Given the description of an element on the screen output the (x, y) to click on. 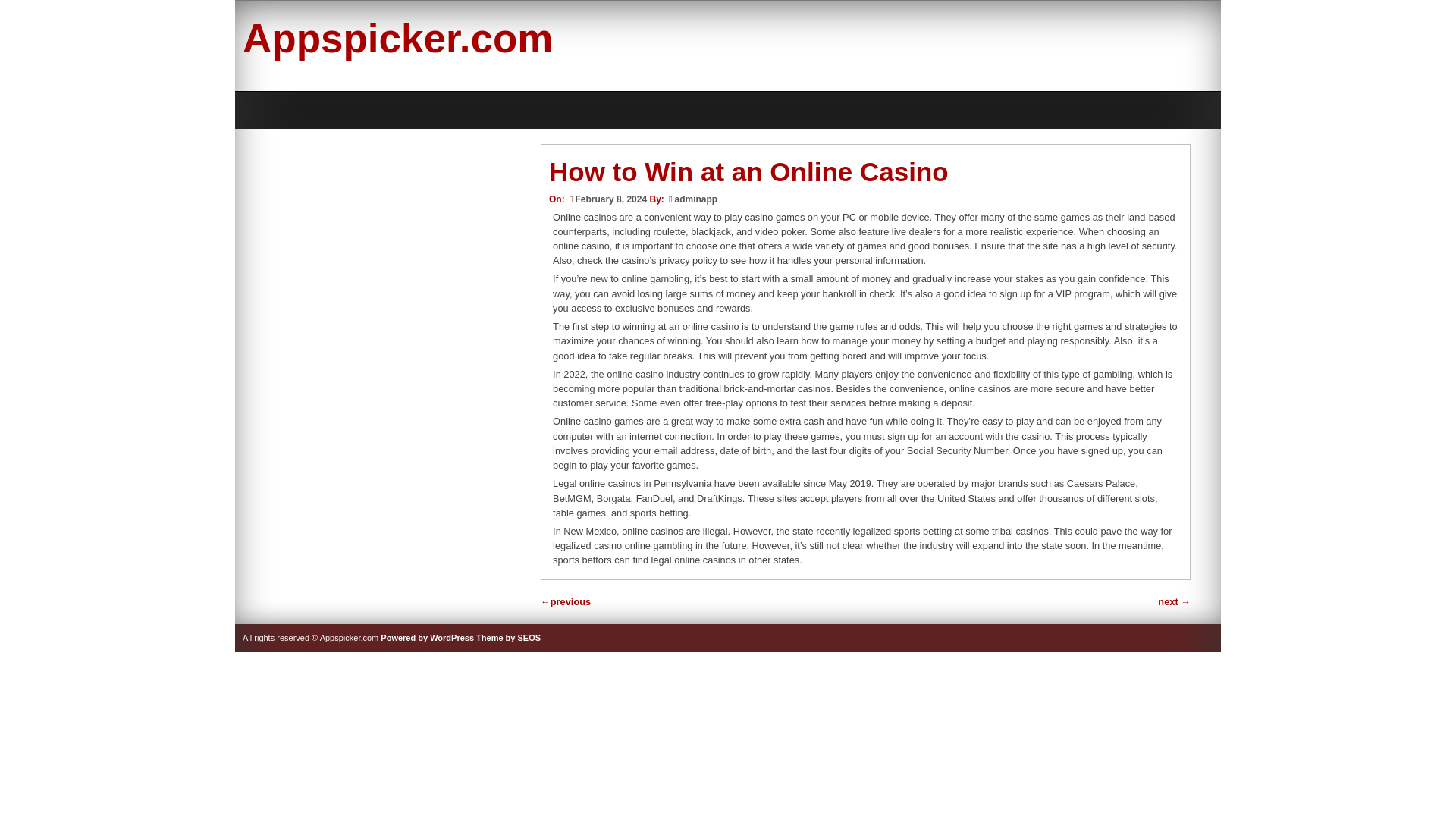
Powered by WordPress (427, 637)
Seos free wordpress themes (508, 637)
Appspicker.com (398, 37)
Theme by SEOS (508, 637)
adminapp (696, 199)
February 8, 2024 (606, 199)
